Given the description of an element on the screen output the (x, y) to click on. 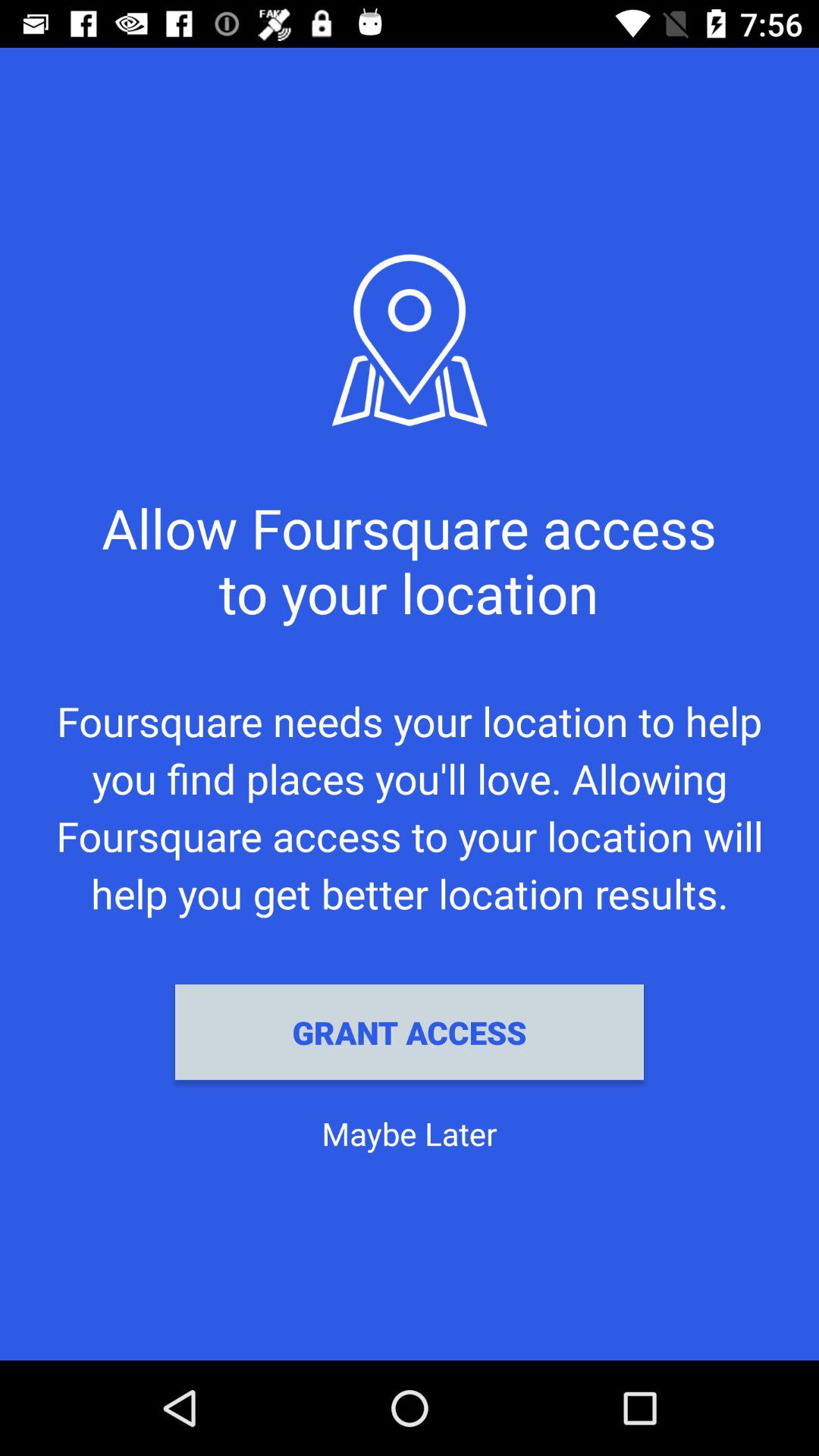
open the icon above the maybe later item (409, 1032)
